Given the description of an element on the screen output the (x, y) to click on. 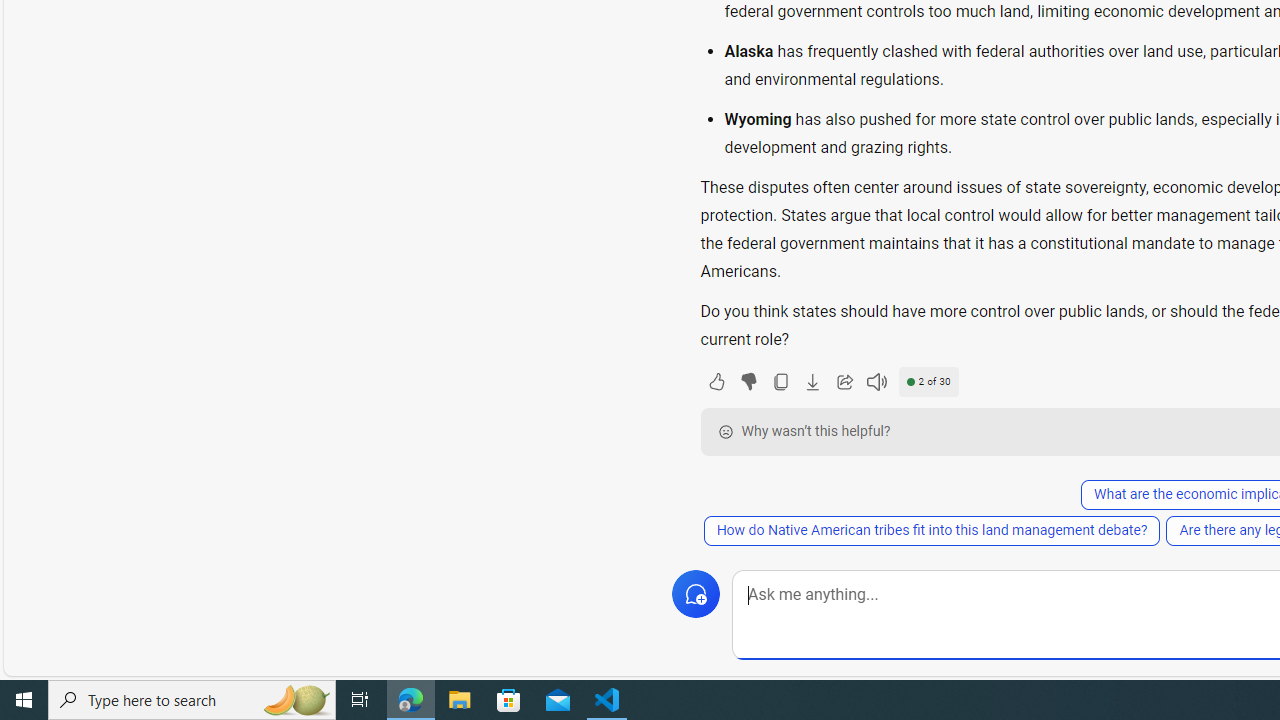
Export (812, 381)
Share (844, 381)
Copy (780, 381)
Read aloud (876, 381)
Like (716, 381)
